Given the description of an element on the screen output the (x, y) to click on. 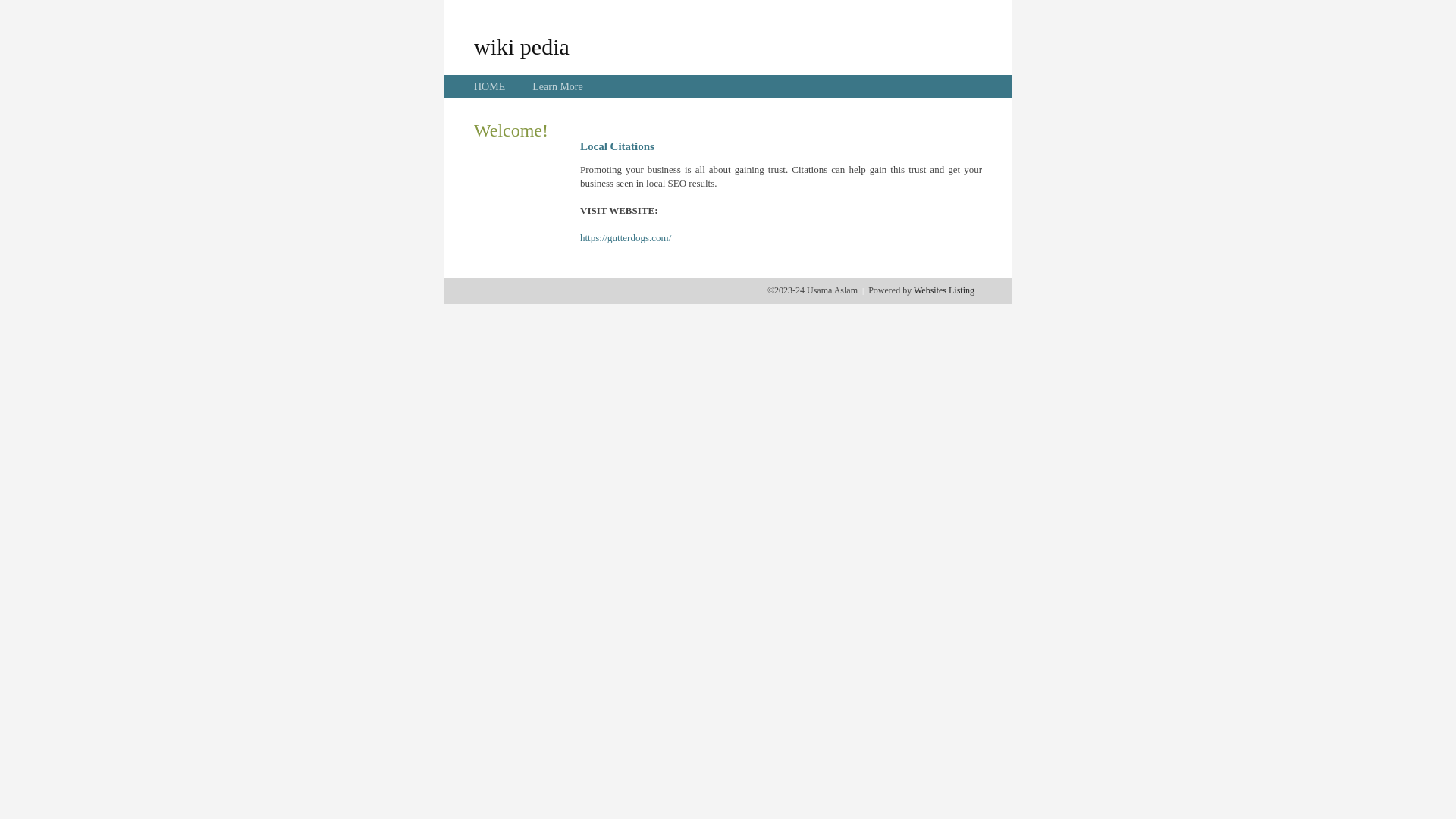
wiki pedia Element type: text (521, 46)
Learn More Element type: text (557, 86)
Websites Listing Element type: text (943, 290)
https://gutterdogs.com/ Element type: text (625, 237)
HOME Element type: text (489, 86)
